Given the description of an element on the screen output the (x, y) to click on. 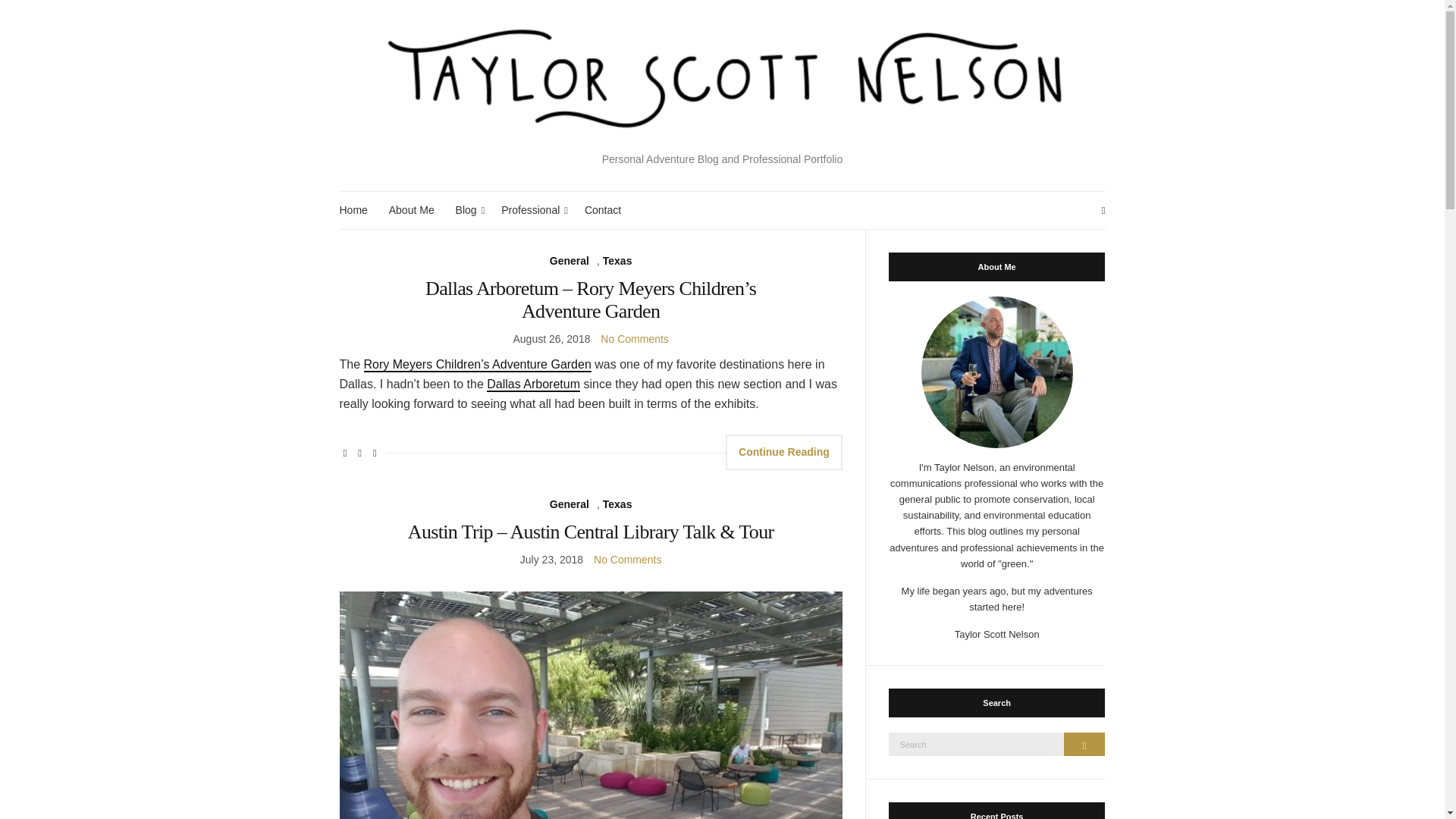
Texas (616, 261)
Blog (467, 210)
Dallas Arboretum (532, 384)
Home (353, 210)
No Comments (627, 559)
General (569, 504)
About Me (410, 210)
General (569, 261)
Texas (616, 504)
Contact (603, 210)
No Comments (633, 338)
Continue Reading (784, 452)
Professional (531, 210)
